Given the description of an element on the screen output the (x, y) to click on. 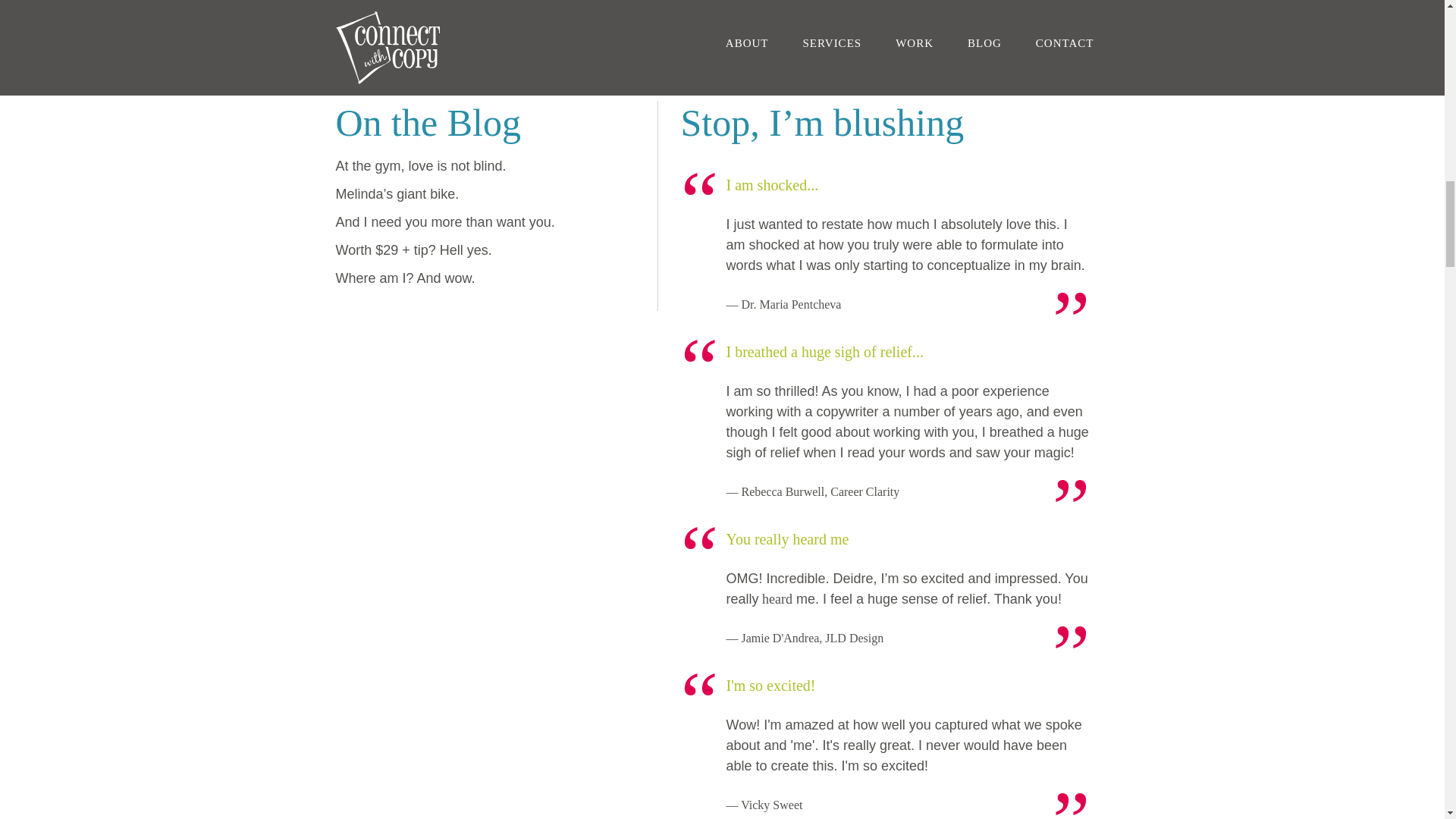
And I need you more than want you. (444, 222)
Where am I? And wow. (404, 278)
At the gym, love is not blind. (419, 165)
